Given the description of an element on the screen output the (x, y) to click on. 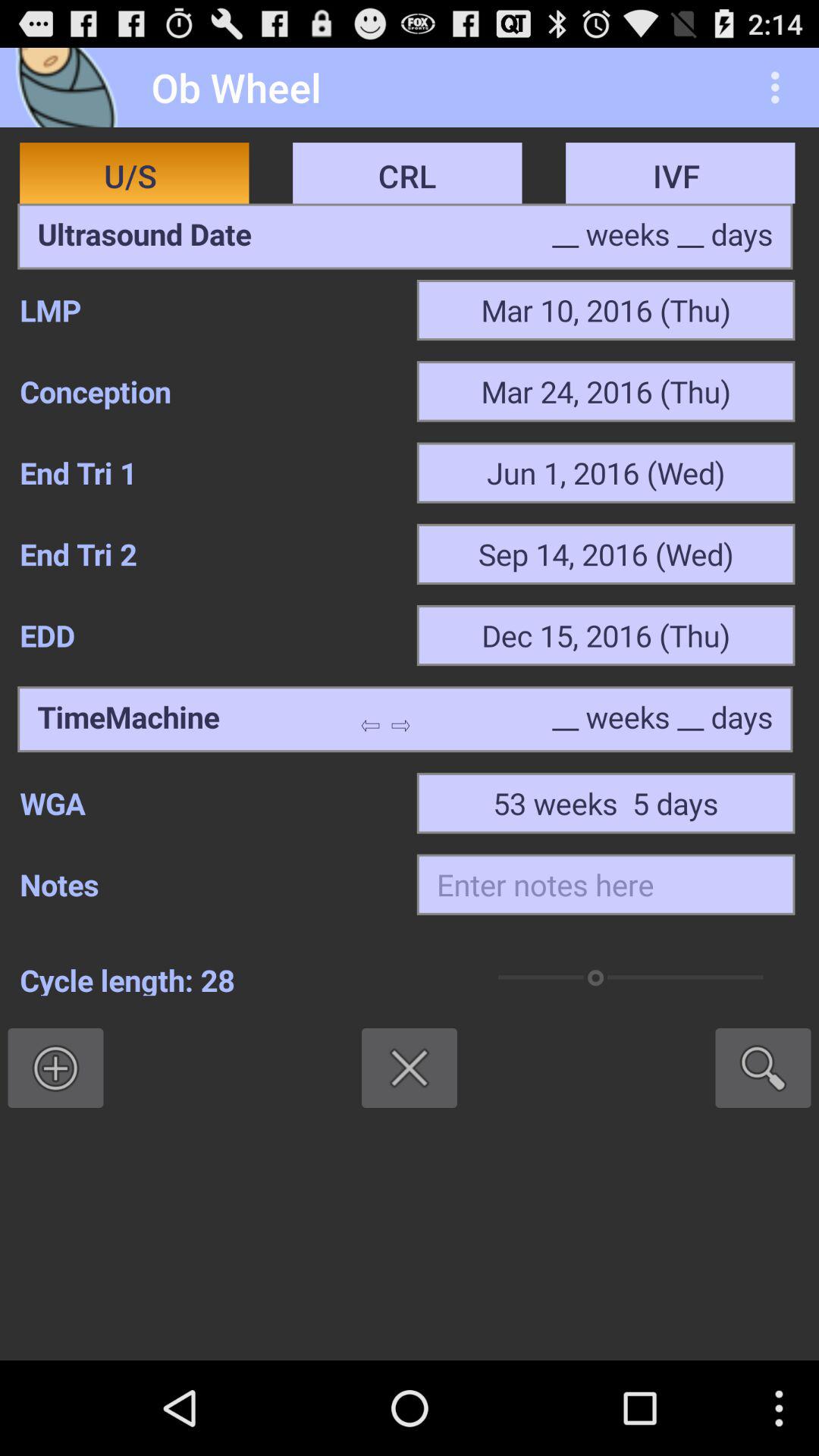
choose lmp (208, 309)
